Given the description of an element on the screen output the (x, y) to click on. 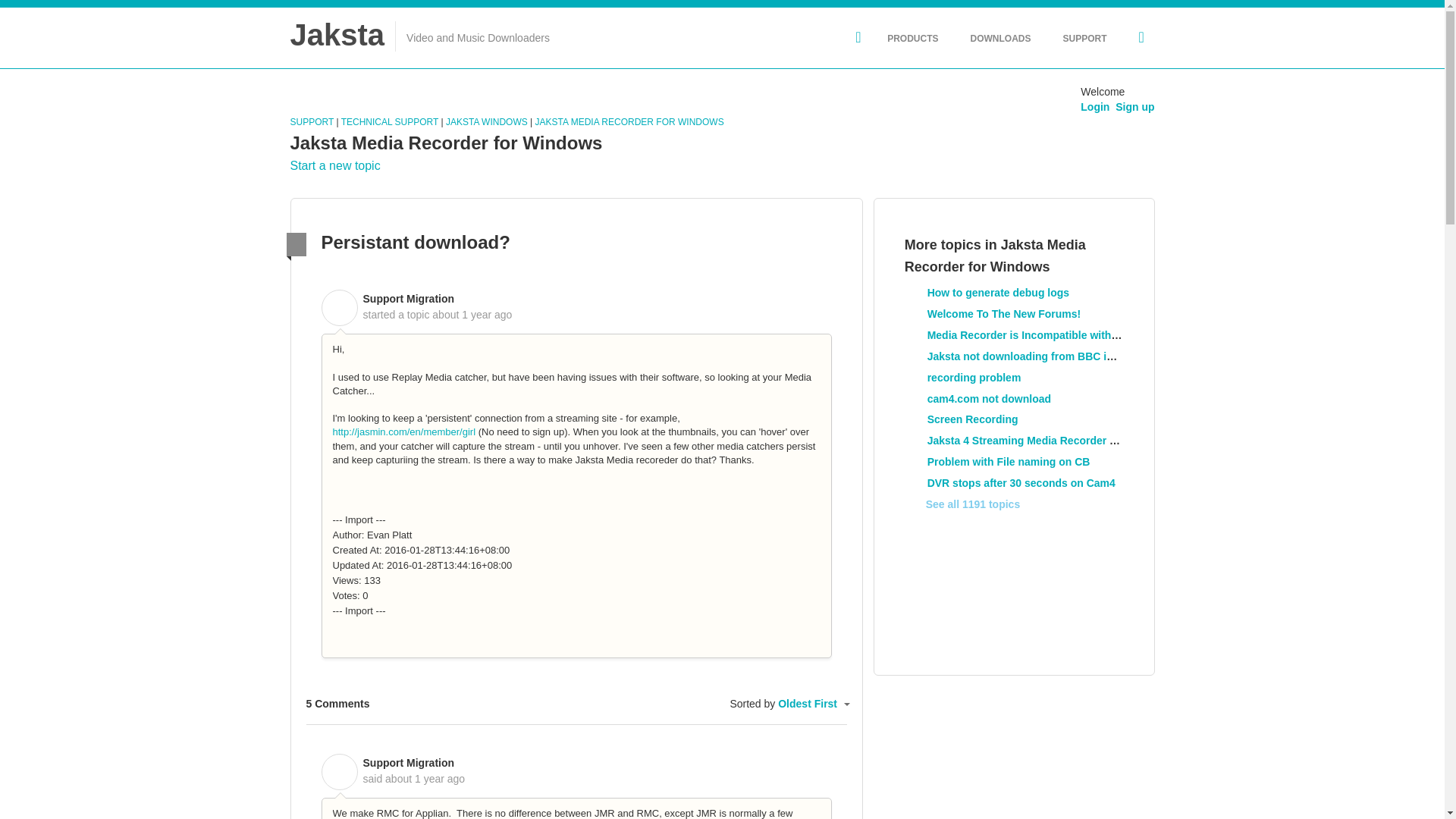
DOWNLOADS (999, 37)
How to generate debug logs (997, 292)
Jaksta not downloading from BBC iPlayer (1032, 356)
TECHNICAL SUPPORT (389, 122)
Oldest First (812, 703)
Jaksta (336, 34)
Start a new topic (334, 164)
JAKSTA WINDOWS (486, 122)
See all 1191 topics (962, 503)
Buy Now (1138, 36)
Start a new topic (334, 164)
recording problem (974, 377)
Mon, 8 May, 2023 at  1:19 AM (472, 314)
JAKSTA MEDIA RECORDER FOR WINDOWS (629, 122)
Welcome To The New Forums! (1004, 313)
